Given the description of an element on the screen output the (x, y) to click on. 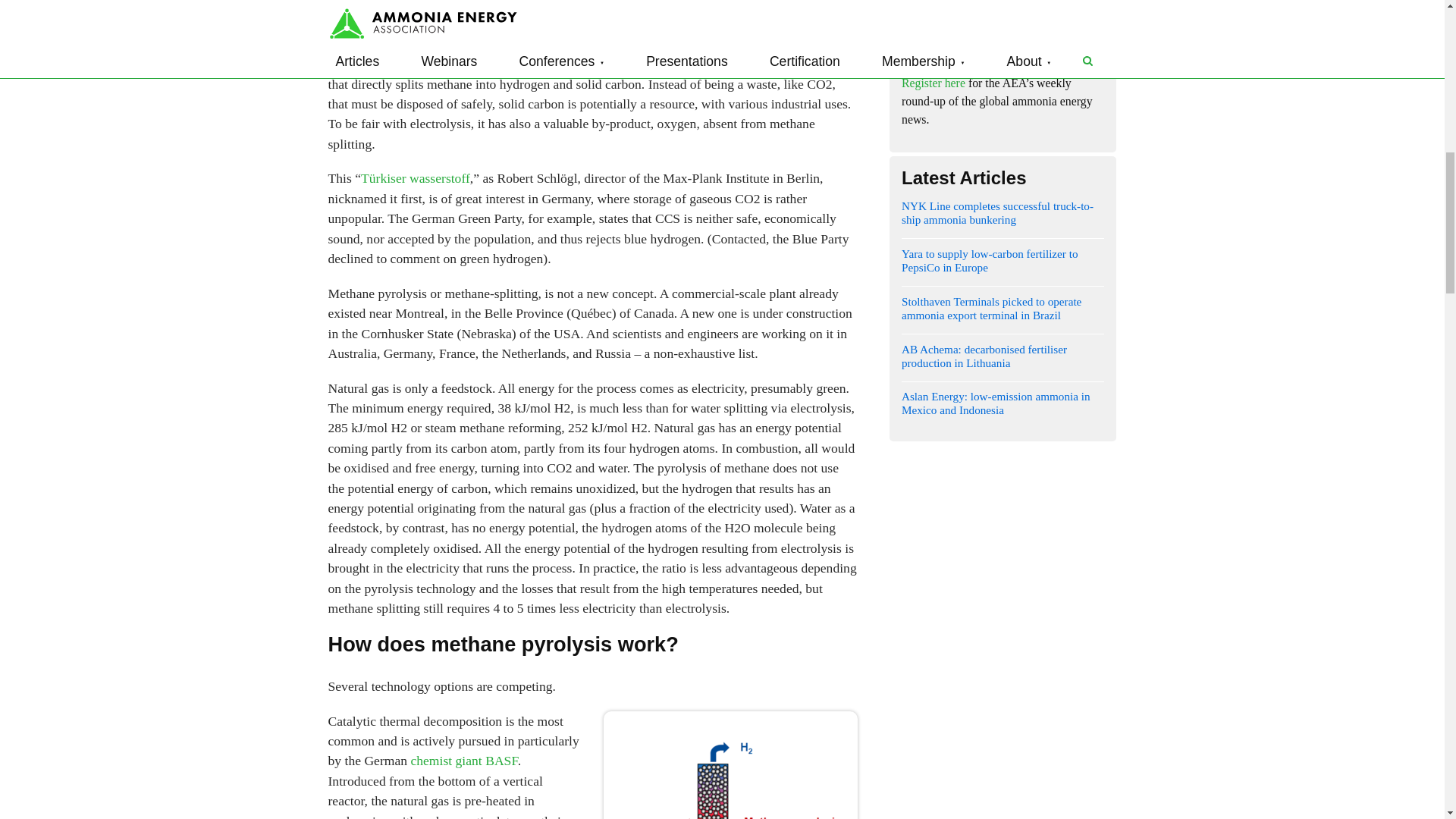
chemist giant BASF (463, 760)
